Given the description of an element on the screen output the (x, y) to click on. 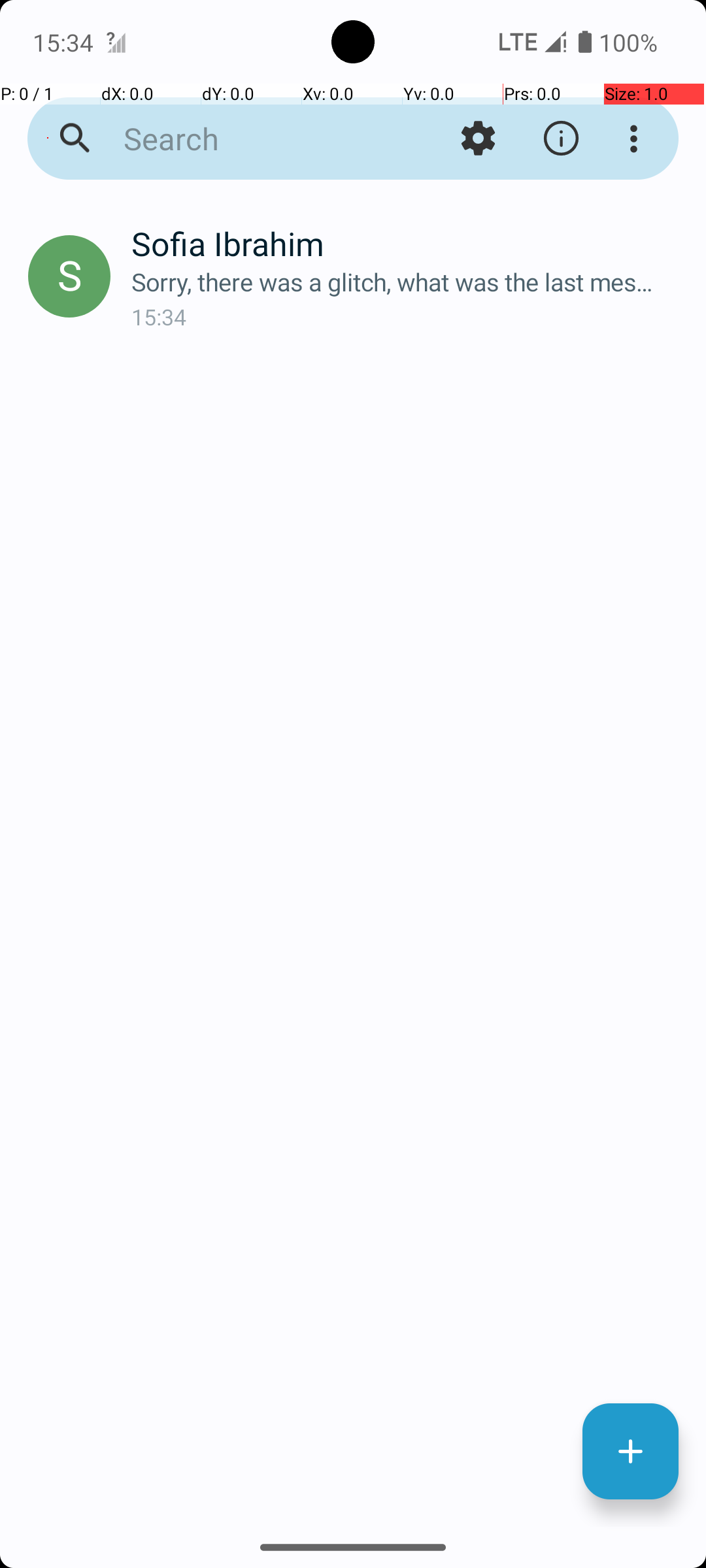
Sofia Ibrahim Element type: android.widget.TextView (408, 242)
